Given the description of an element on the screen output the (x, y) to click on. 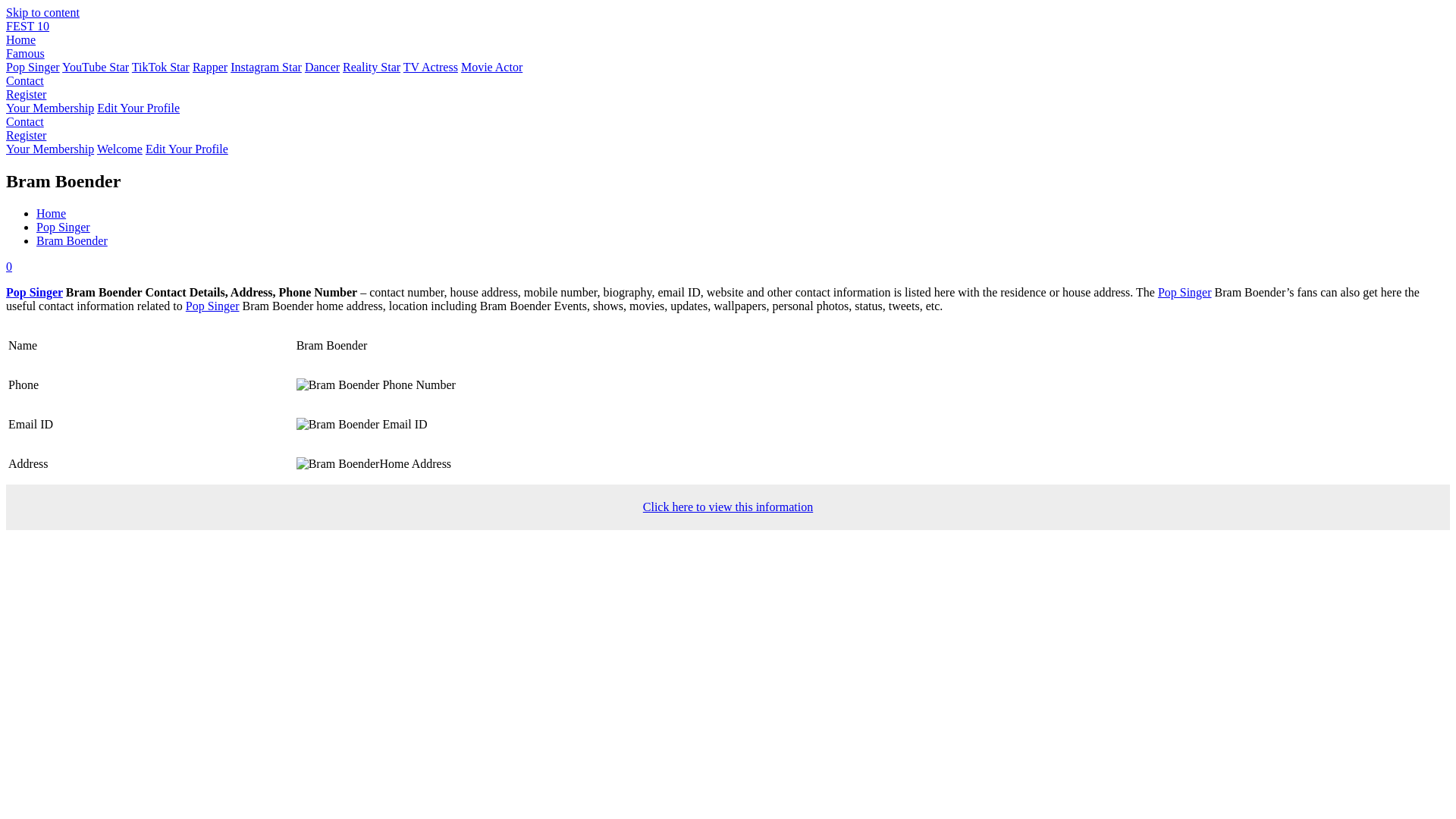
Contact (24, 80)
Rapper (209, 66)
Reality Star (371, 66)
Pop Singer (213, 305)
FEST 10 (27, 25)
Edit Your Profile (138, 107)
Welcome (119, 148)
Register (25, 134)
TikTok Star (160, 66)
Register (25, 134)
Edit Your Profile (138, 107)
Pop Singer (1184, 291)
TikTok Star (160, 66)
TV Actress (430, 66)
TV Actress (430, 66)
